Given the description of an element on the screen output the (x, y) to click on. 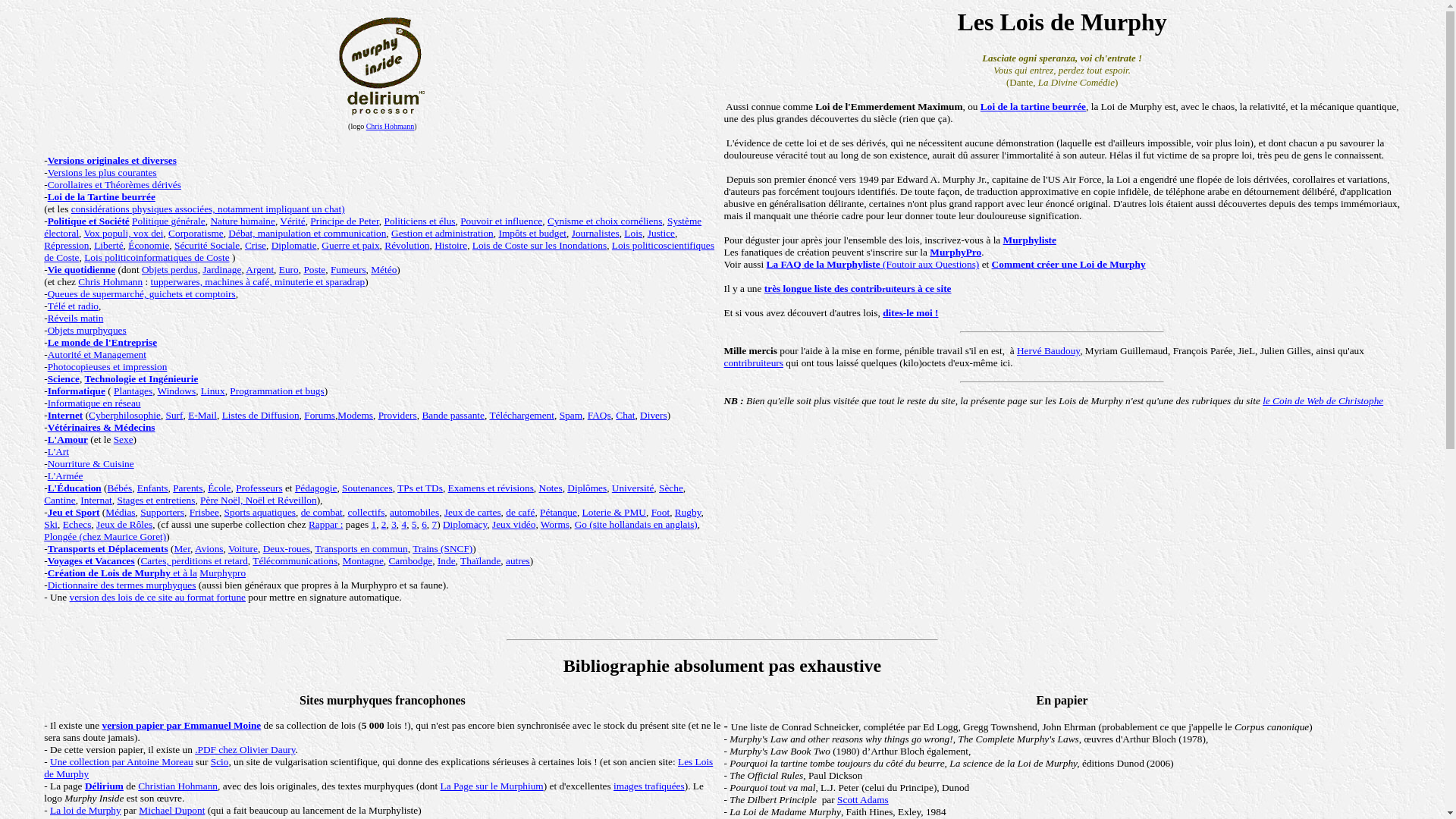
5 Element type: text (414, 524)
Surf Element type: text (174, 414)
Versions les plus courantes Element type: text (101, 172)
La loi de Murphy Element type: text (85, 809)
Corporatisme Element type: text (195, 232)
Chris Hohmann Element type: text (110, 281)
2 Element type: text (383, 524)
Chat Element type: text (624, 414)
Soutenances Element type: text (367, 487)
Journalistes Element type: text (595, 232)
version des lois de ce site au format fortune Element type: text (157, 596)
Cantine Element type: text (59, 499)
Nature humaine Element type: text (242, 220)
Murphypro Element type: text (222, 572)
Sports aquatiques Element type: text (259, 511)
La Page sur le Murphium Element type: text (491, 785)
dites-le moi ! Element type: text (910, 312)
Go (site hollandais en anglais) Element type: text (635, 524)
Scott Adams Element type: text (862, 799)
Guerre et paix Element type: text (350, 245)
7 Element type: text (434, 524)
6 Element type: text (423, 524)
Voyages et Vacances Element type: text (90, 560)
- Element type: text (45, 165)
Euro Element type: text (288, 269)
Montagne Element type: text (362, 560)
Avions Element type: text (208, 548)
Justice Element type: text (660, 232)
Divers Element type: text (653, 414)
Diplomacy Element type: text (464, 524)
Providers Element type: text (397, 414)
Dictionnaire des termes murphyques Element type: text (121, 584)
Deux-roues Element type: text (286, 548)
Poste Element type: text (314, 269)
Chris Hohmann Element type: text (390, 126)
Versions originales et diverses Element type: text (111, 160)
Informatique Element type: text (76, 390)
FAQs Element type: text (599, 414)
Spam Element type: text (570, 414)
Bande passante Element type: text (452, 414)
Vox populi, vox dei Element type: text (123, 232)
Stages et entretiens Element type: text (155, 499)
L'Amour Element type: text (67, 439)
Rugby Element type: text (687, 511)
Science Element type: text (63, 378)
Forums Element type: text (319, 414)
Cyberphilosophie Element type: text (124, 414)
contribruiteurs Element type: text (752, 362)
Programmation et bugs Element type: text (276, 390)
Loterie & PMU Element type: text (614, 511)
collectifs Element type: text (365, 511)
Supporters Element type: text (162, 511)
Notes Element type: text (550, 487)
Listes de Diffusion Element type: text (260, 414)
version papier par Emmanuel Moine Element type: text (180, 725)
Internat Element type: text (95, 499)
Rappar : Element type: text (325, 524)
L'Art Element type: text (58, 451)
Parents Element type: text (187, 487)
Trains (SNCF) Element type: text (442, 548)
TPs et TDs Element type: text (419, 487)
4 Element type: text (403, 524)
Sexe Element type: text (123, 439)
Transports en commun Element type: text (360, 548)
Gestion et administration Element type: text (442, 232)
Frisbee Element type: text (204, 511)
de combat Element type: text (321, 511)
Diplomatie Element type: text (293, 245)
Histoire Element type: text (450, 245)
Les Lois de Murphy Element type: text (377, 767)
Ski Element type: text (50, 524)
Voiture Element type: text (242, 548)
Mer Element type: text (181, 548)
Objets murphyques Element type: text (86, 329)
Inde Element type: text (446, 560)
.PDF chez Olivier Daury Element type: text (244, 749)
1 Element type: text (373, 524)
autres Element type: text (517, 560)
Objets perdus Element type: text (169, 269)
Scio Element type: text (219, 761)
automobiles Element type: text (414, 511)
Jeu et Sport Element type: text (73, 511)
Windows Element type: text (176, 390)
Jeux de cartes Element type: text (472, 511)
E-Mail Element type: text (202, 414)
Vie quotidienne Element type: text (81, 269)
Pouvoir et influence Element type: text (501, 220)
Christian Hohmann Element type: text (177, 785)
Foot Element type: text (660, 511)
Modems Element type: text (355, 414)
Lois politicoinformatiques de Coste Element type: text (156, 257)
La FAQ de la Murphyliste (Foutoir aux Questions) Element type: text (872, 263)
Internet Element type: text (65, 414)
Principe de Peter Element type: text (344, 220)
MurphyPro Element type: text (955, 251)
3 Element type: text (393, 524)
Jardinage Element type: text (221, 269)
Argent Element type: text (259, 269)
Le monde de l'Entreprise Element type: text (102, 342)
Nourriture & Cuisine Element type: text (90, 463)
Une collection par Antoine Moreau Element type: text (121, 761)
Bibliographie absolument pas exhaustive Element type: text (722, 665)
Crise Element type: text (255, 245)
Cambodge Element type: text (410, 560)
Cartes, perditions et retard Element type: text (193, 560)
Plantages Element type: text (132, 390)
Photocopieuses et impression Element type: text (107, 366)
Worms Element type: text (554, 524)
Fumeurs Element type: text (348, 269)
Michael Dupont Element type: text (171, 809)
Lois politicoscientifiques de Coste Element type: text (378, 251)
Echecs Element type: text (76, 524)
Linux Element type: text (212, 390)
Murphyliste Element type: text (1029, 239)
Lois de Coste sur les Inondations Element type: text (539, 245)
Lois Element type: text (633, 232)
le Coin de Web de Christophe Element type: text (1322, 400)
Professeurs Element type: text (258, 487)
Enfants Element type: text (152, 487)
